Given the description of an element on the screen output the (x, y) to click on. 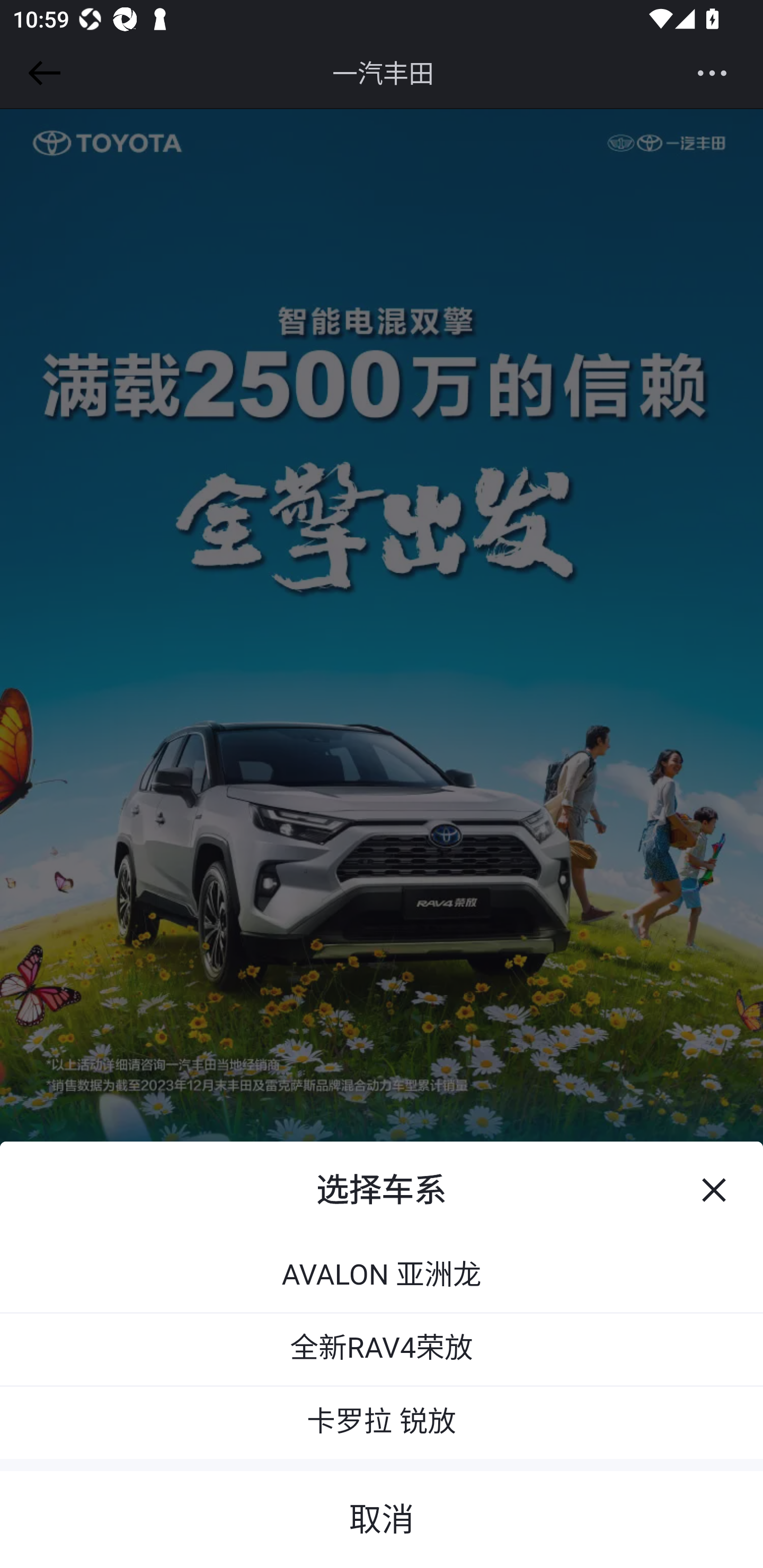
AVALON 亚洲龙 (381, 1275)
全新RAV4荣放 (381, 1348)
卡罗拉 锐放 (381, 1421)
取消 (381, 1512)
